Given the description of an element on the screen output the (x, y) to click on. 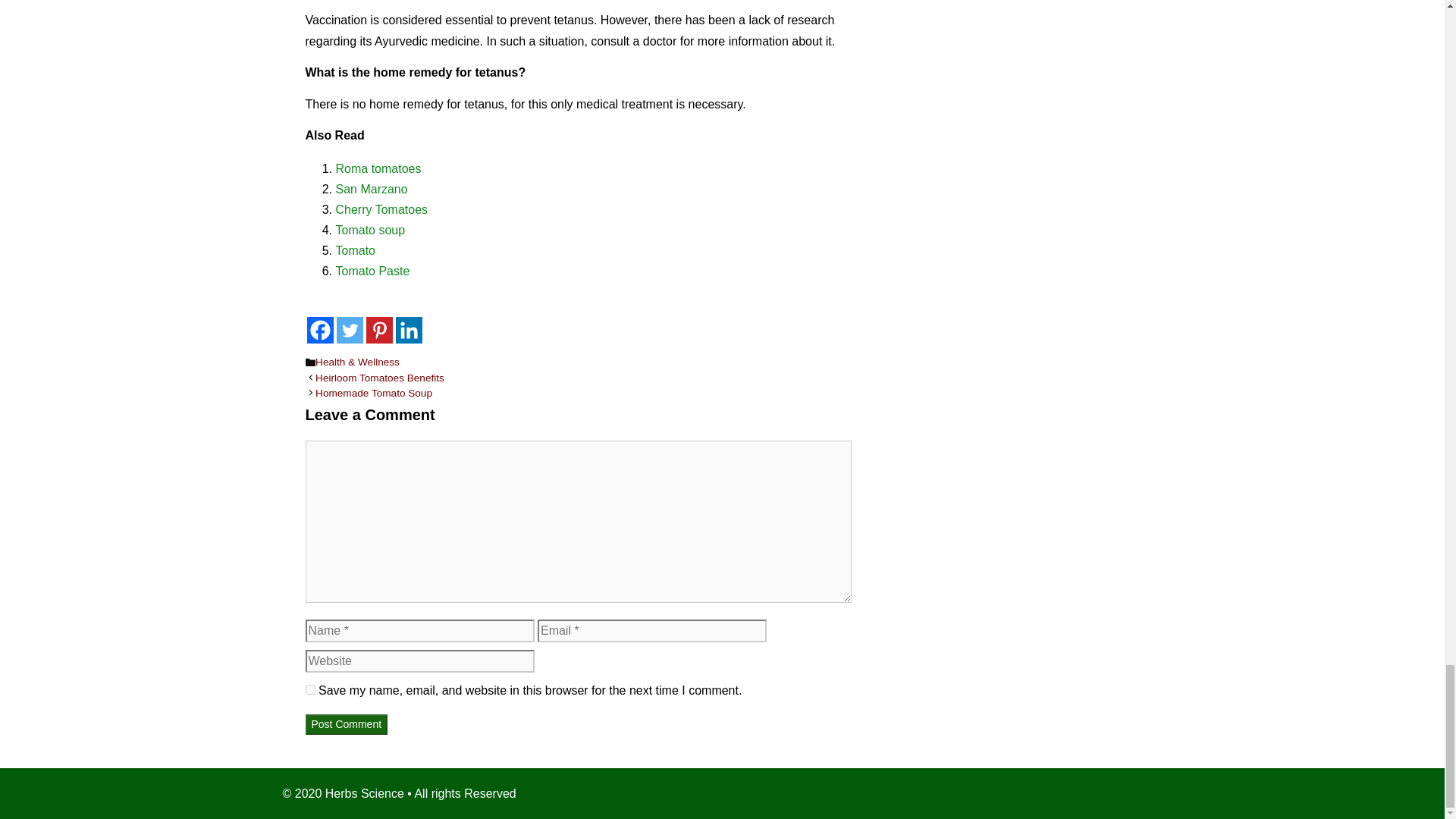
Heirloom Tomatoes Benefits (379, 378)
Tomato Paste (371, 270)
Twitter (349, 329)
Linkedin (409, 329)
Homemade Tomato Soup (373, 392)
yes (309, 689)
Facebook (319, 329)
Post Comment (345, 724)
San Marzano (370, 188)
Roma tomatoes (377, 168)
Tomato soup (369, 229)
Pinterest (378, 329)
Post Comment (345, 724)
Tomato (354, 250)
Cherry Tomatoes (381, 209)
